Given the description of an element on the screen output the (x, y) to click on. 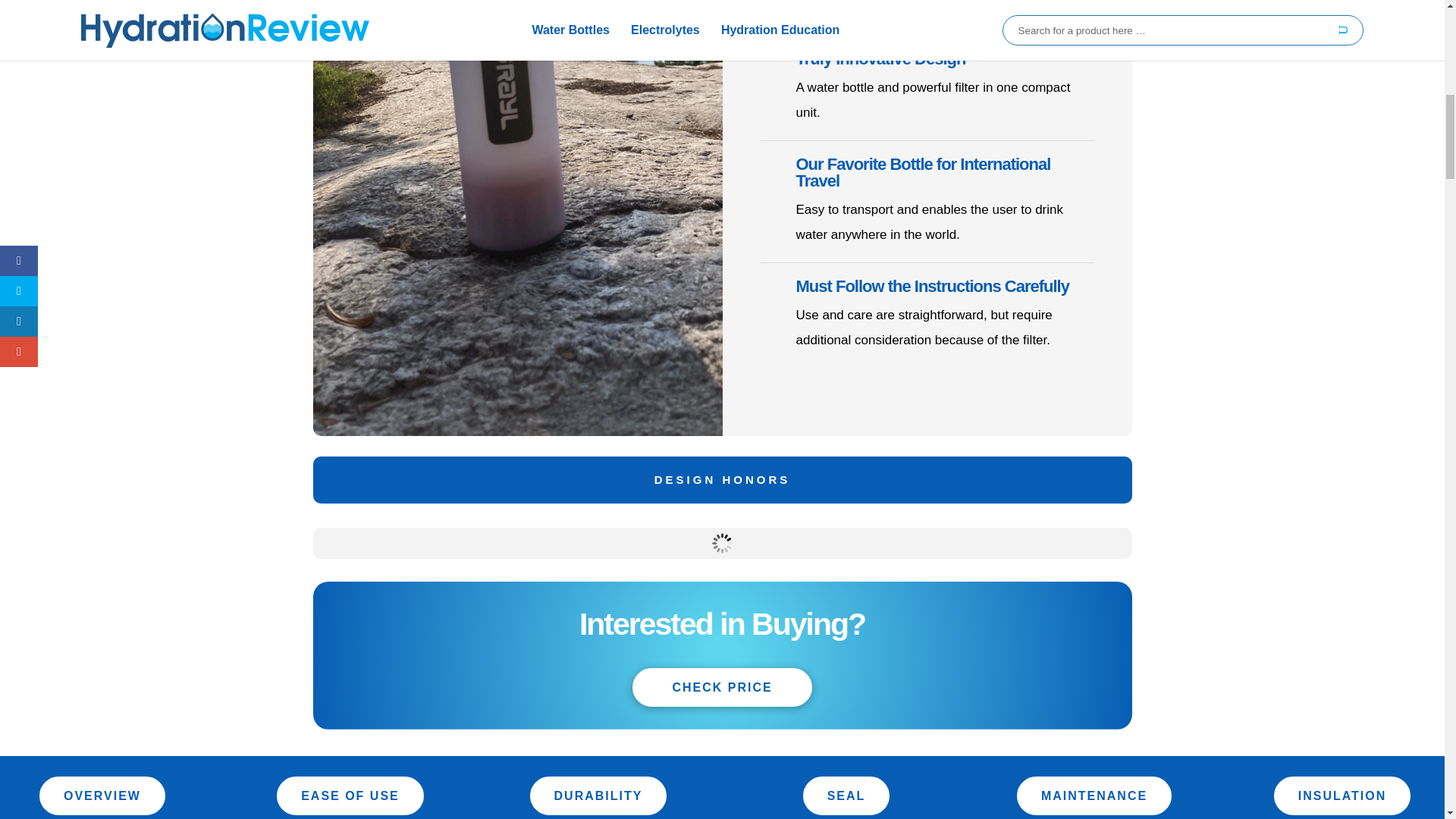
OVERVIEW (102, 795)
EASE OF USE (349, 795)
SEAL (846, 795)
DURABILITY (597, 795)
MAINTENANCE (1094, 795)
INSULATION (1342, 795)
CHECK PRICE (720, 687)
